Given the description of an element on the screen output the (x, y) to click on. 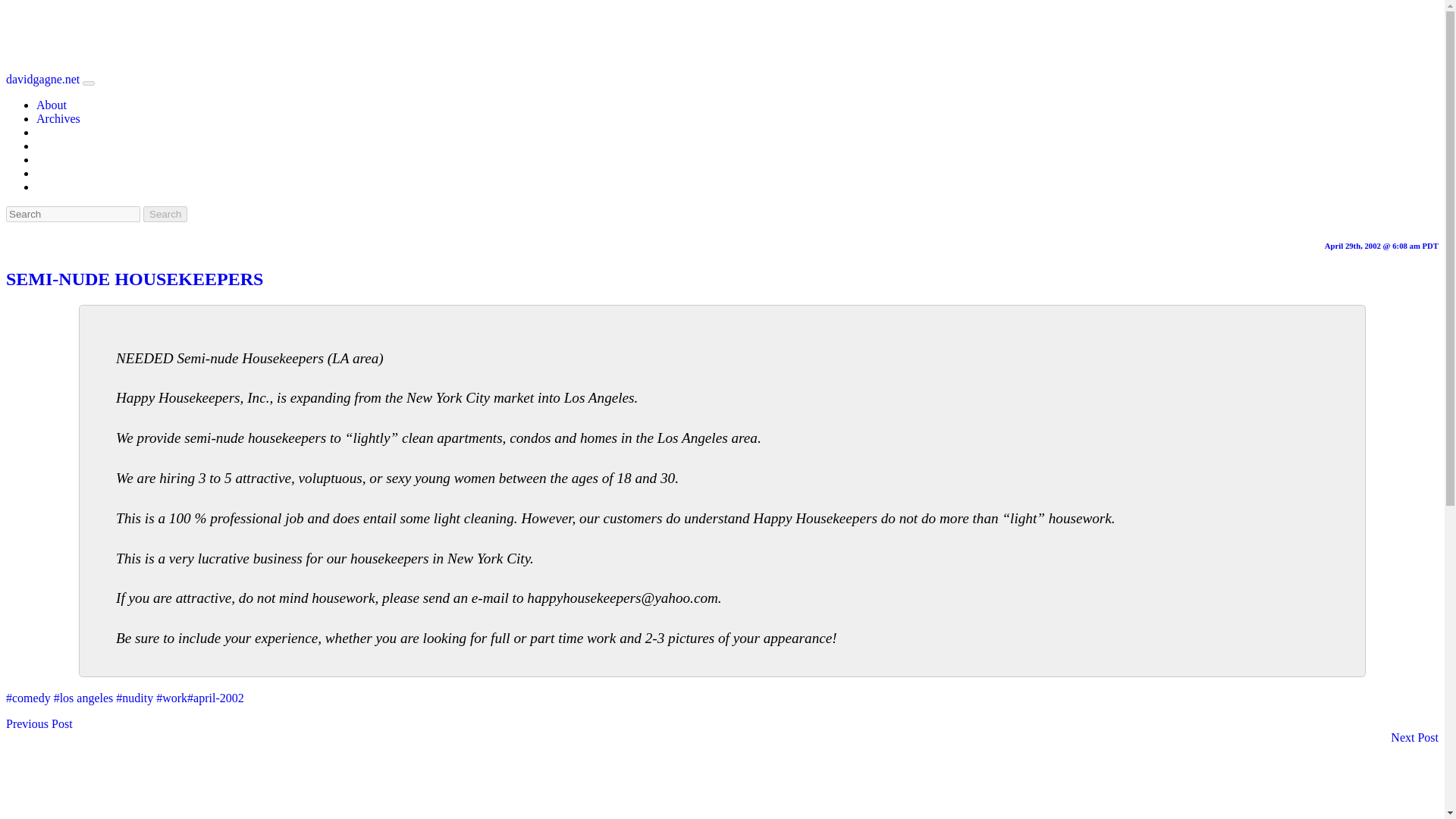
All About Me (38, 723)
more posts from April 2002 (51, 104)
4 posts (215, 697)
Search (134, 697)
davidgagne.net (164, 213)
SEMI-NUDE HOUSEKEEPERS (42, 78)
About (134, 279)
Archives (51, 104)
378 posts (58, 118)
95 posts (27, 697)
142 posts (171, 697)
Thousands of Old Posts (83, 697)
